Given the description of an element on the screen output the (x, y) to click on. 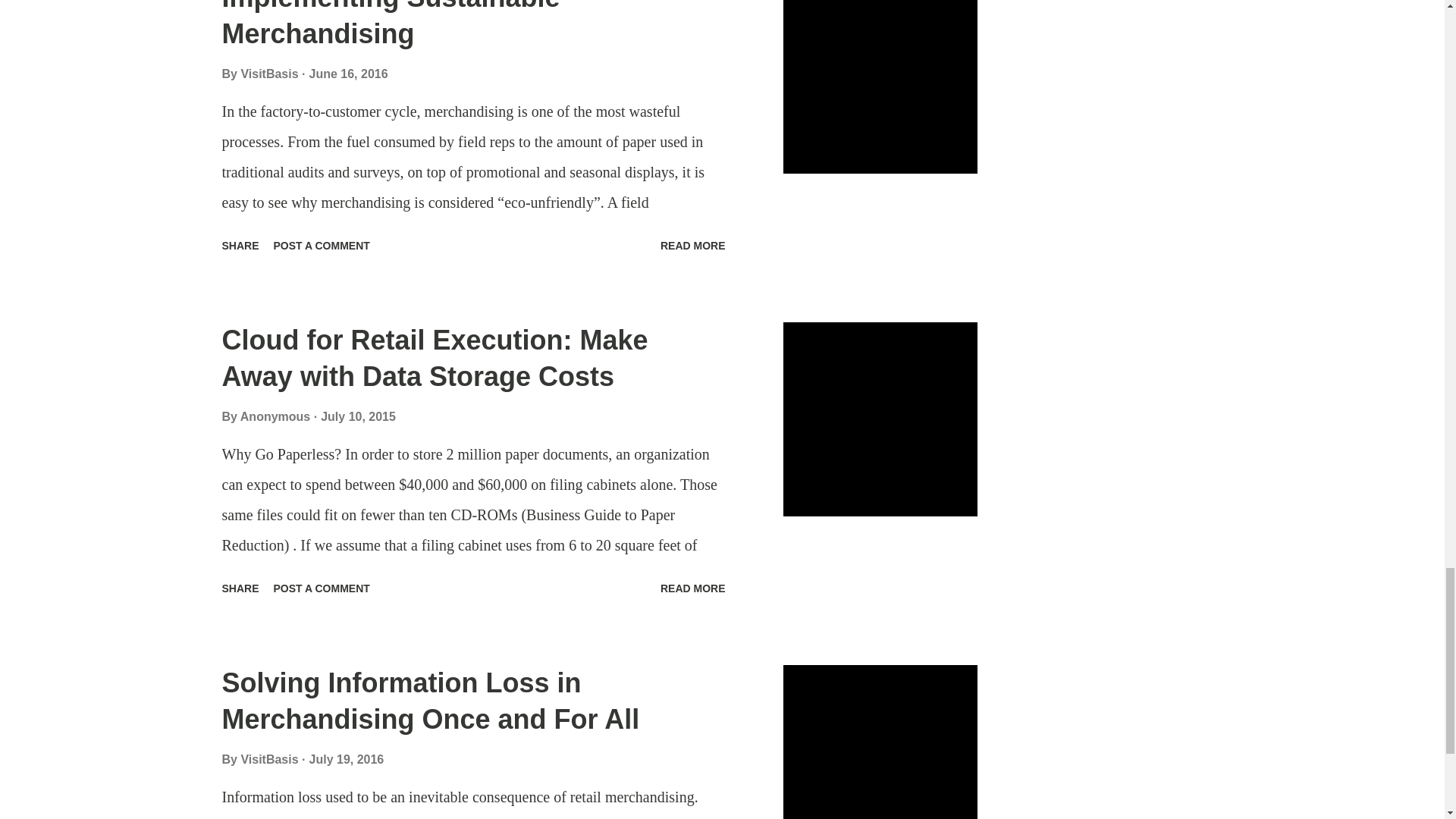
VisitBasis (270, 73)
Implementing Sustainable Merchandising (390, 24)
SHARE (239, 245)
author profile (270, 73)
June 16, 2016 (348, 73)
POST A COMMENT (321, 245)
permanent link (348, 73)
READ MORE (692, 245)
